Given the description of an element on the screen output the (x, y) to click on. 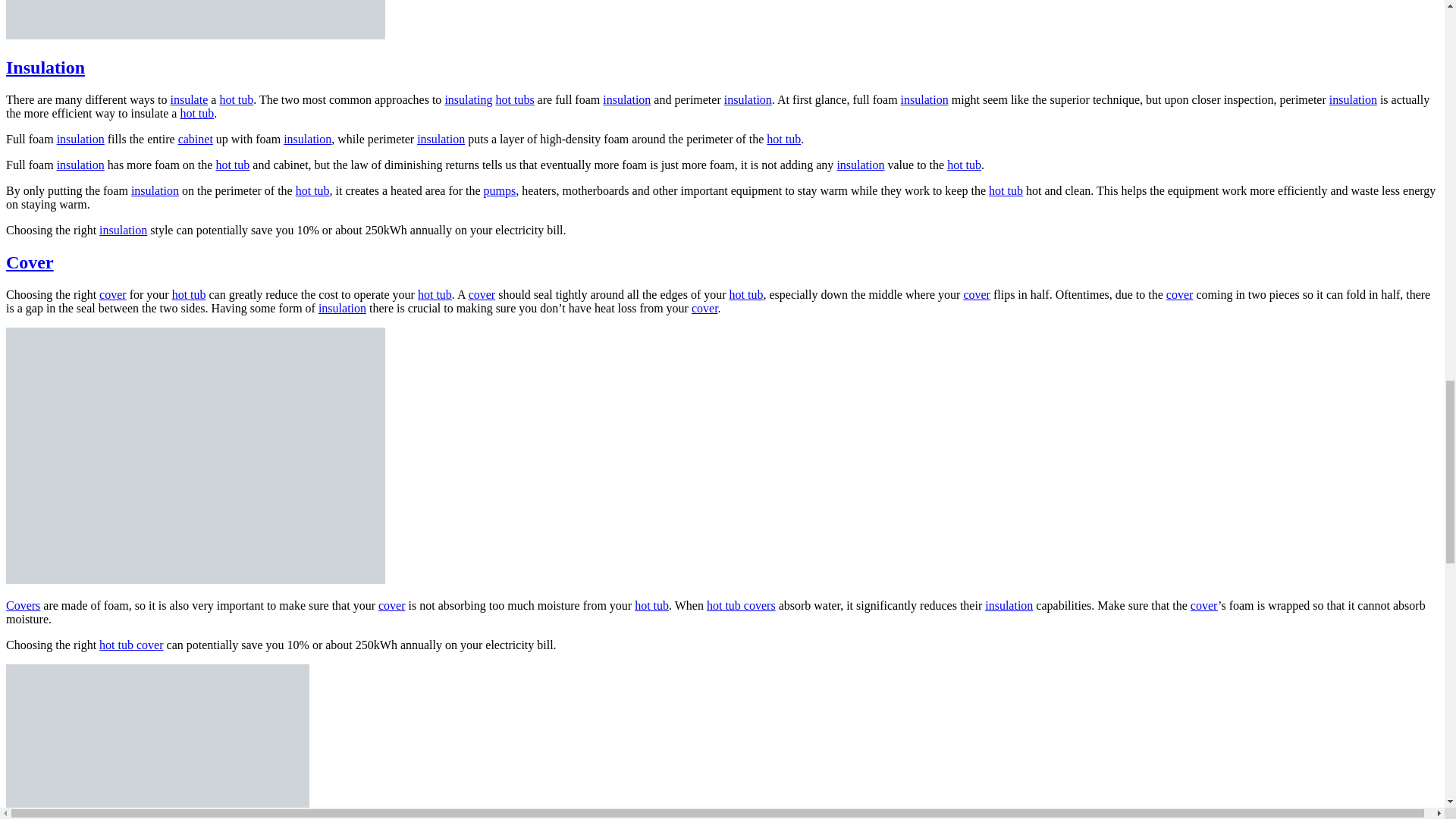
features vacsealcover (195, 455)
freeheat (195, 19)
pump jet (156, 741)
